Given the description of an element on the screen output the (x, y) to click on. 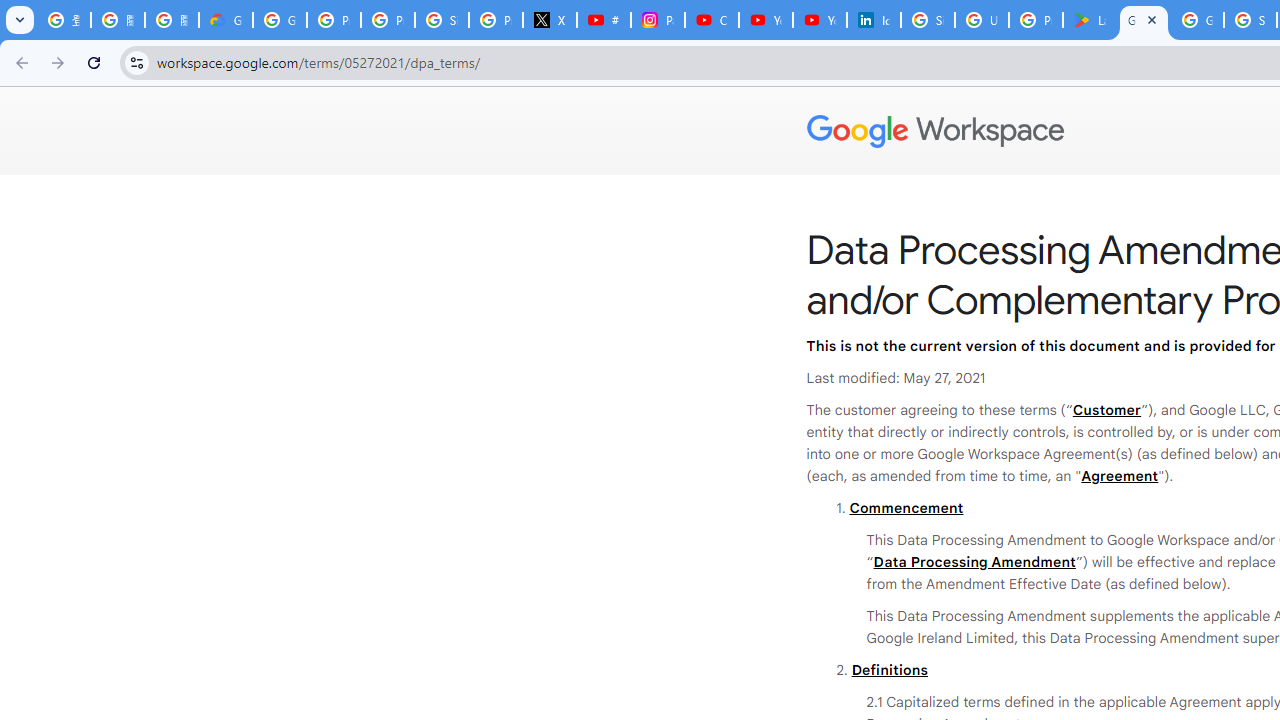
Sign in - Google Accounts (441, 20)
System (10, 11)
Google Cloud Privacy Notice (225, 20)
#nbabasketballhighlights - YouTube (604, 20)
X (550, 20)
View site information (136, 62)
Privacy Help Center - Policies Help (387, 20)
YouTube Culture & Trends - YouTube Top 10, 2021 (819, 20)
Back (19, 62)
Last Shelter: Survival - Apps on Google Play (1089, 20)
Search tabs (20, 20)
Sign in - Google Accounts (927, 20)
